Given the description of an element on the screen output the (x, y) to click on. 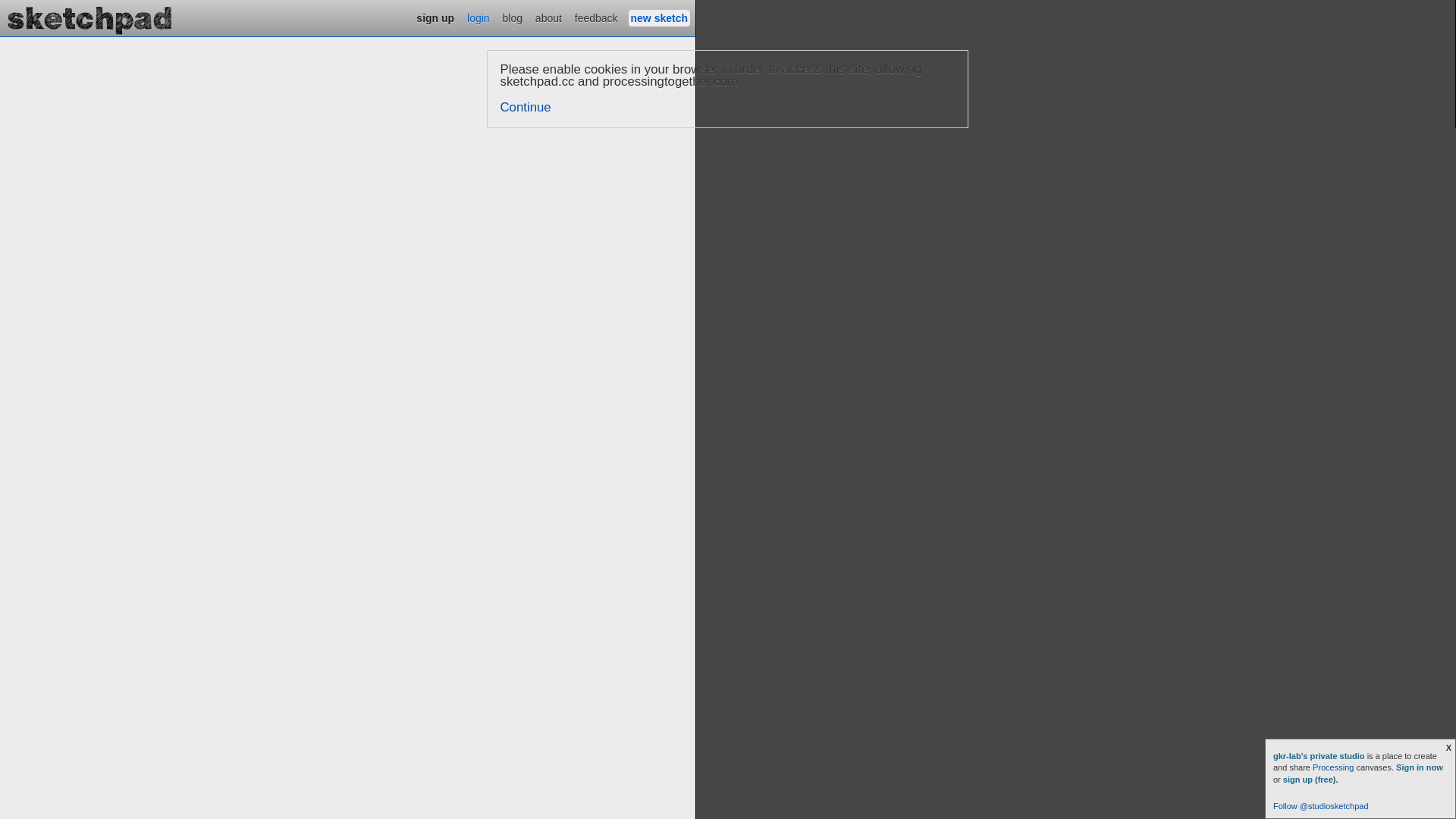
gkr-lab's private studio Element type: text (1320, 755)
login Element type: text (478, 17)
Follow @studiosketchpad Element type: text (1320, 805)
Continue Element type: text (525, 107)
about Element type: text (548, 17)
feedback Element type: text (596, 17)
sign up Element type: text (435, 17)
Processing Element type: text (1332, 766)
Studio Sketchpad is Processing on Etherpad Element type: hover (90, 18)
sign up (free) Element type: text (1309, 779)
Sign in now Element type: text (1419, 766)
new sketch Element type: text (659, 17)
blog Element type: text (512, 17)
